Given the description of an element on the screen output the (x, y) to click on. 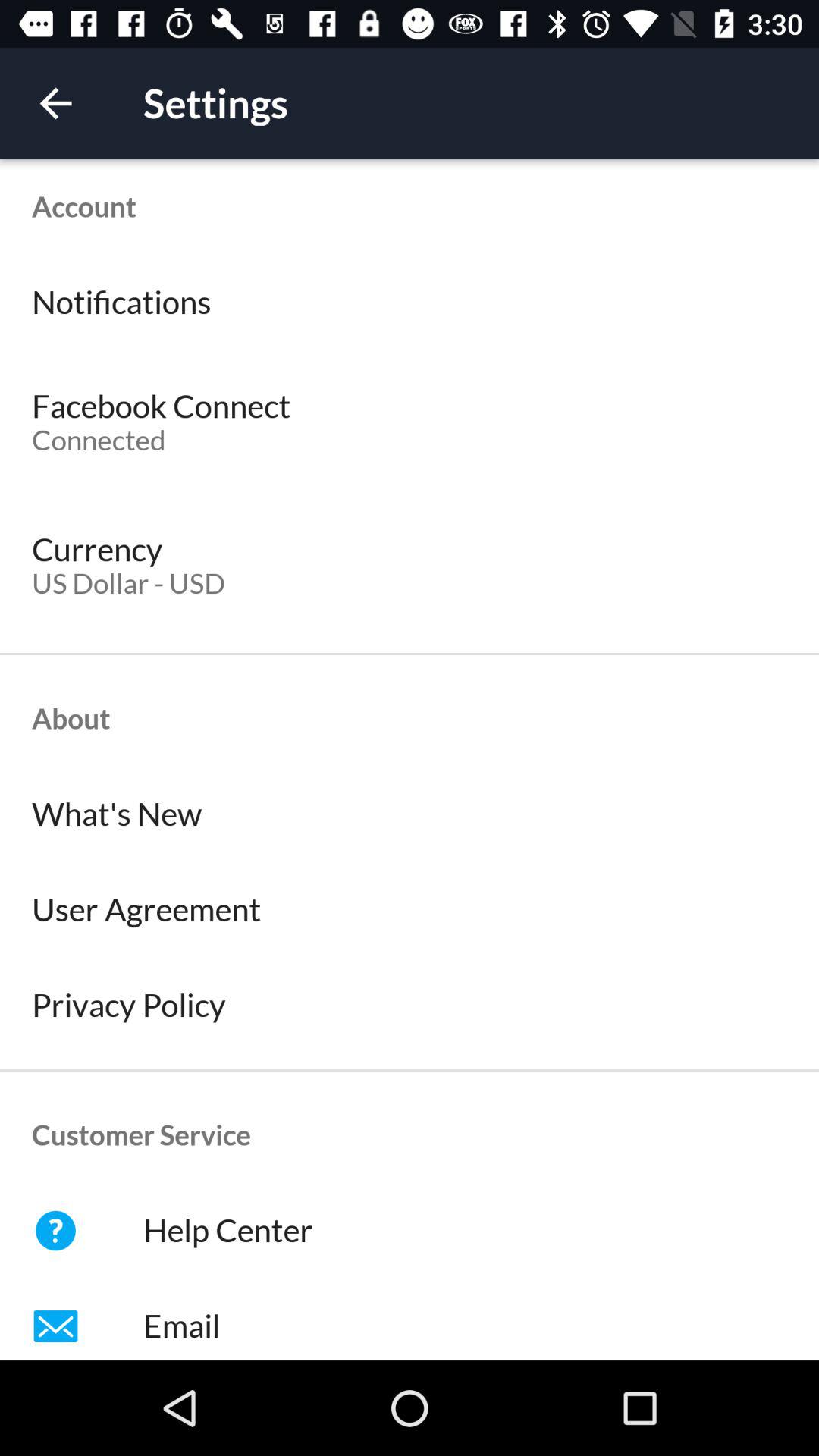
launch the user agreement item (409, 909)
